Given the description of an element on the screen output the (x, y) to click on. 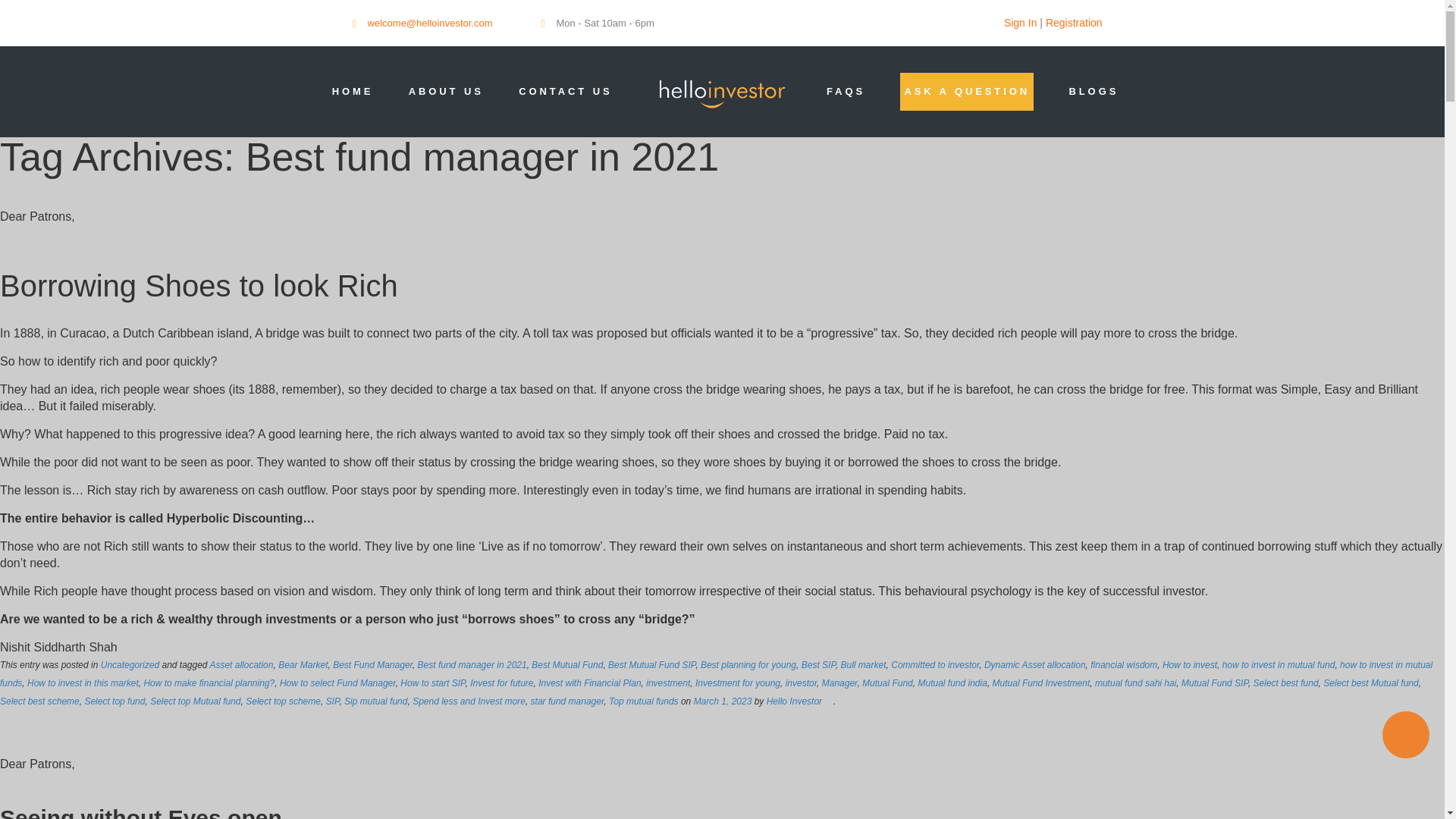
Best Mutual Fund (566, 665)
Invest for future (501, 683)
How to make financial planning? (208, 683)
11:41 am (723, 701)
Best planning for young (748, 665)
how to invest in mutual fund (1279, 665)
Best fund manager in 2021 (472, 665)
Registration (1073, 22)
Invest with Financial Plan (589, 683)
CONTACT US (564, 91)
Uncategorized (129, 665)
How to start SIP (432, 683)
View all posts by Hello Investor (794, 701)
ABOUT US (446, 91)
financial wisdom (1123, 665)
